Given the description of an element on the screen output the (x, y) to click on. 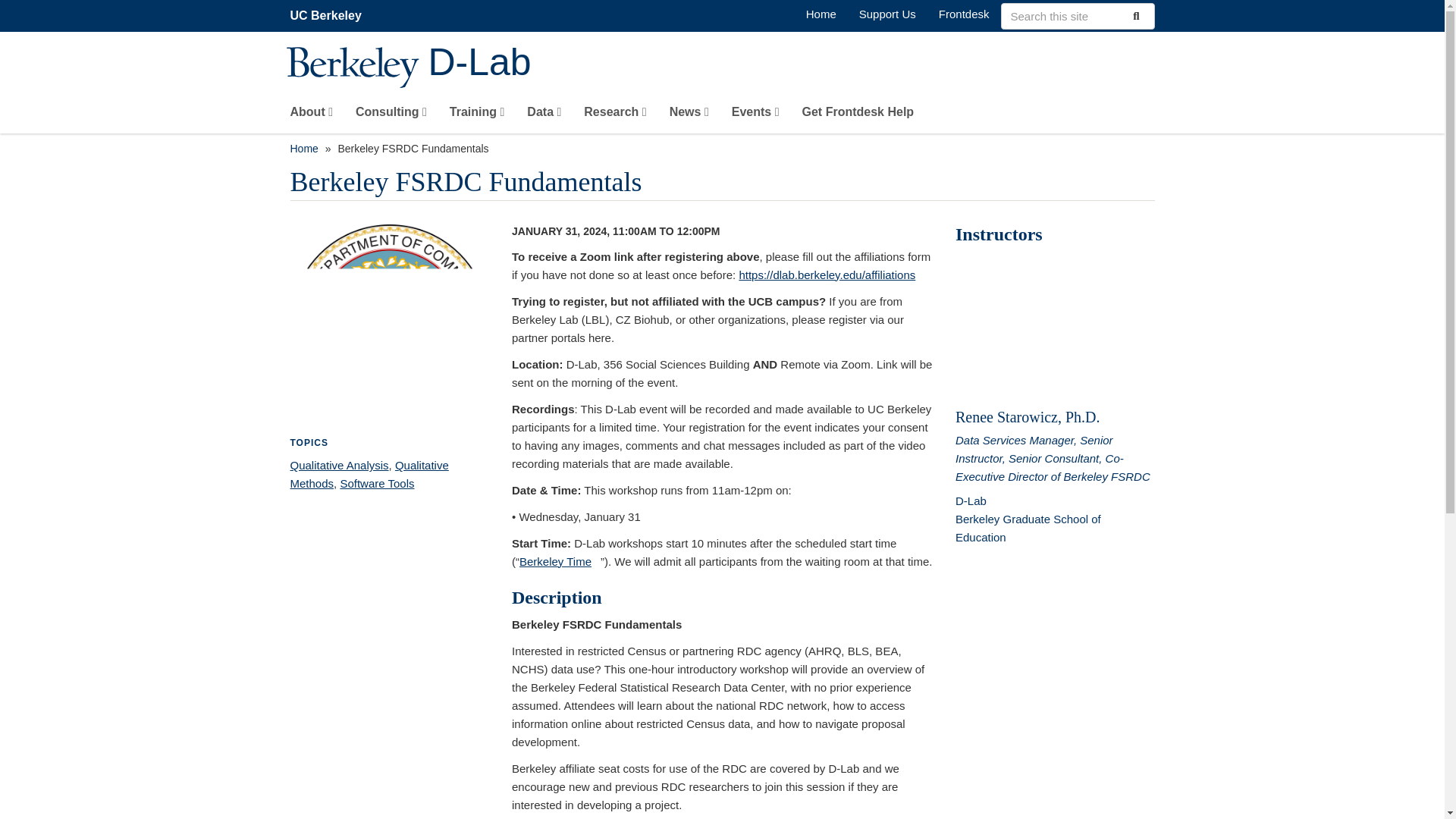
Training (477, 115)
UC Berkeley (325, 15)
News (689, 115)
Give to D-Lab (887, 14)
Submit Search (1133, 15)
Research (614, 115)
About (311, 115)
Return to the D-Lab home page (820, 14)
D-Lab (791, 63)
